Given the description of an element on the screen output the (x, y) to click on. 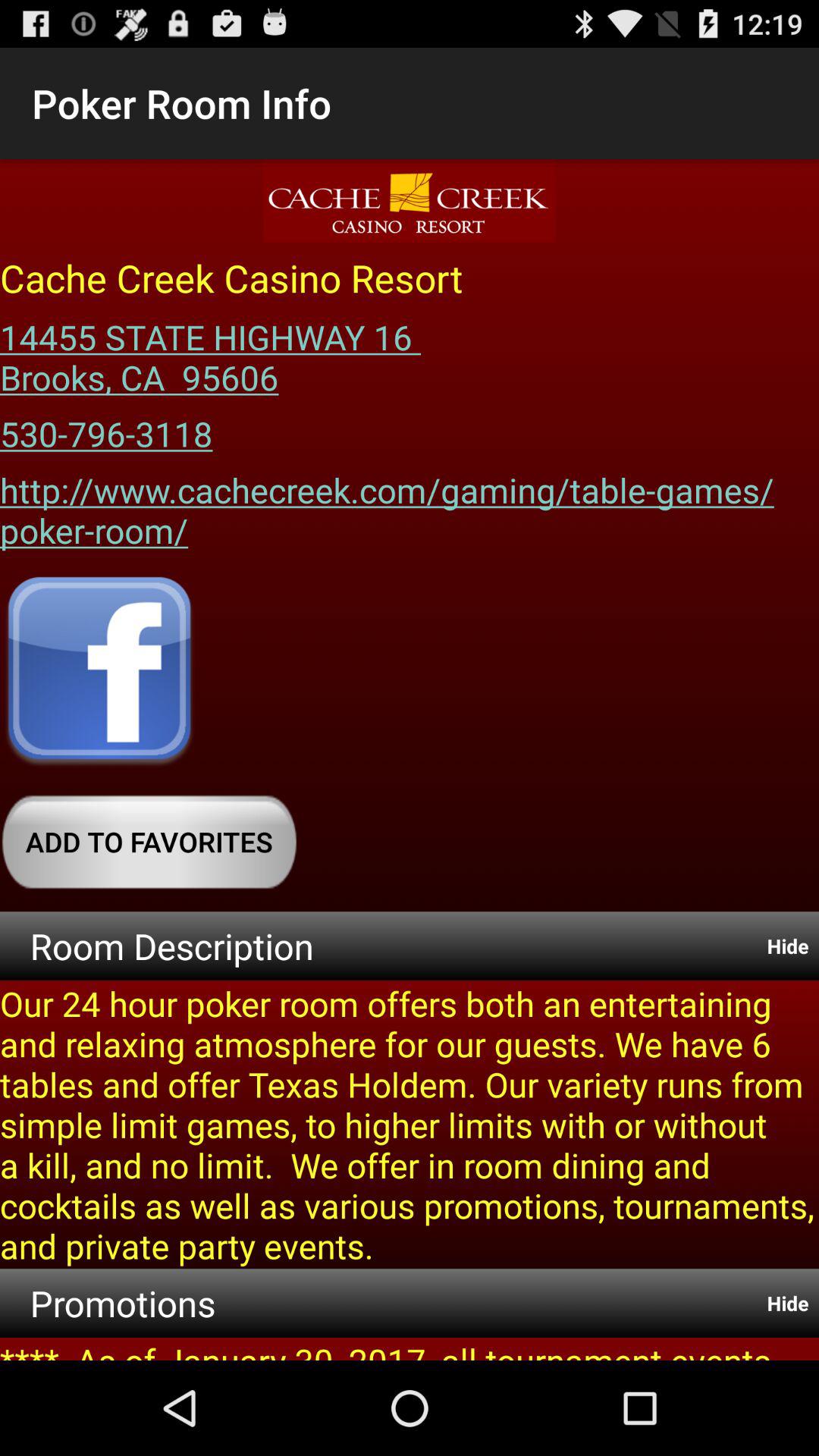
select the item below 14455 state highway app (106, 428)
